Given the description of an element on the screen output the (x, y) to click on. 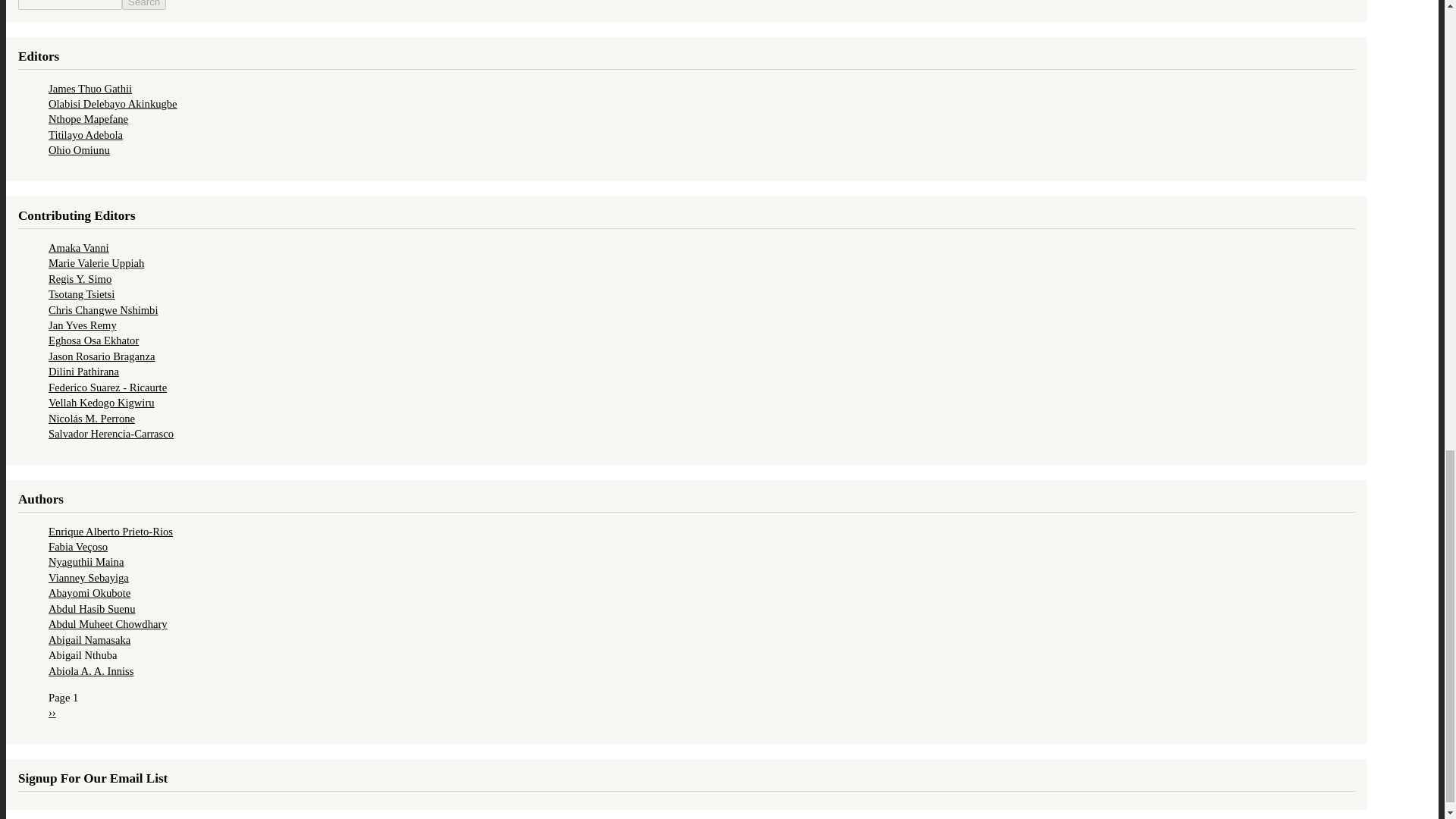
Enter the terms you wish to search for. (69, 4)
